Given the description of an element on the screen output the (x, y) to click on. 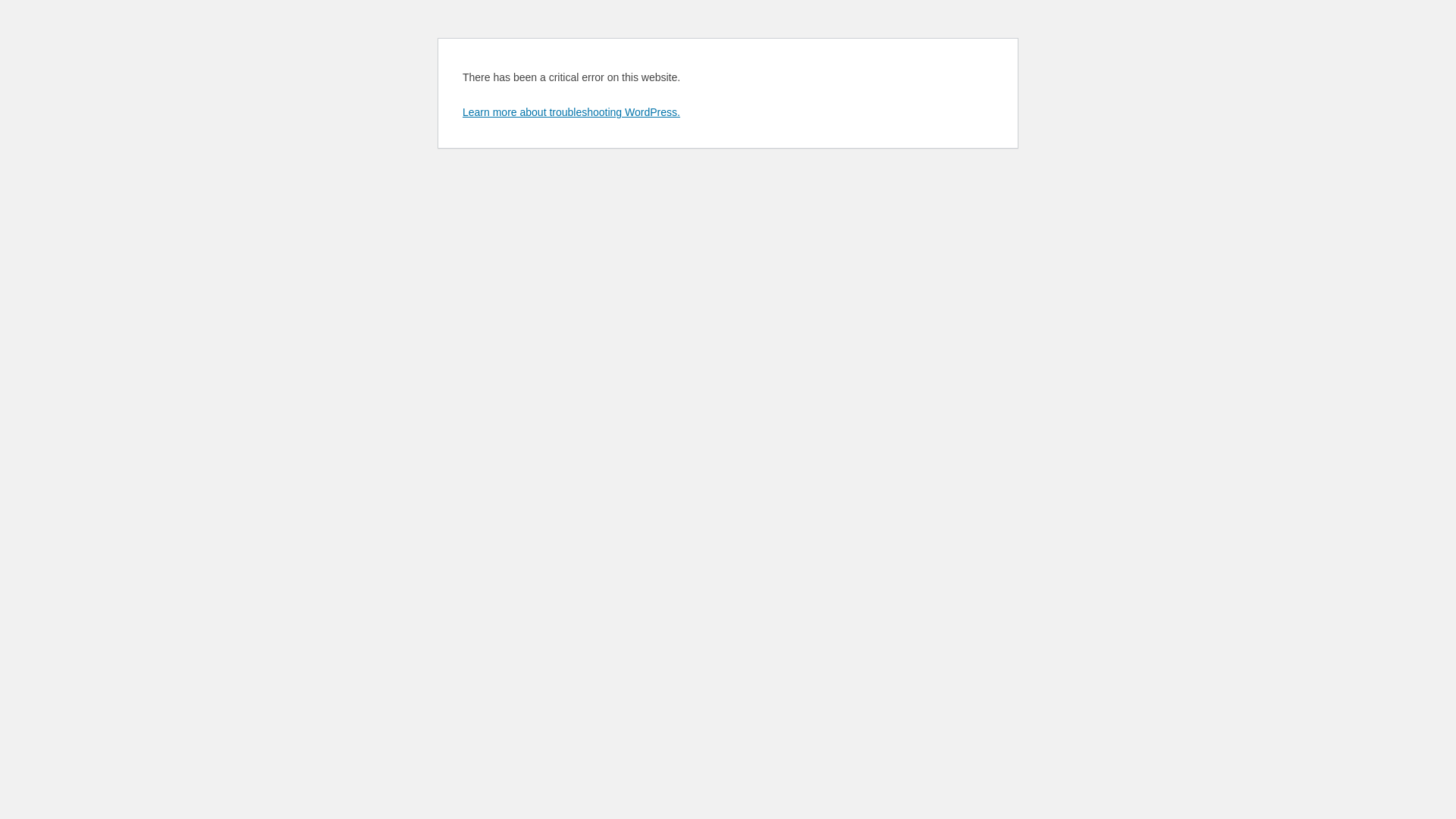
Learn more about troubleshooting WordPress. Element type: text (571, 112)
